Given the description of an element on the screen output the (x, y) to click on. 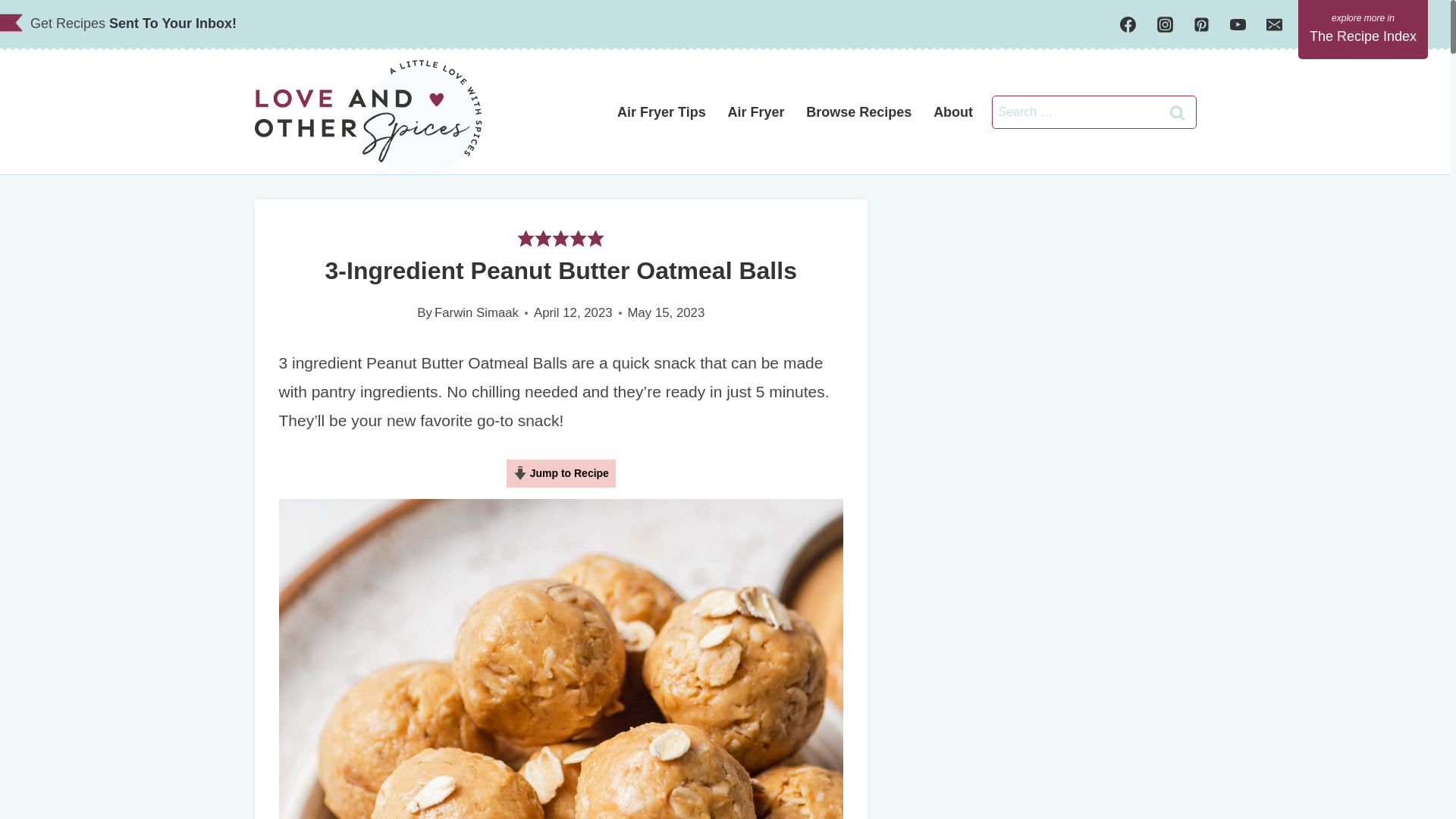
Jump to Recipe (560, 473)
Air Fryer Tips (662, 111)
Farwin Simaak (475, 312)
Air Fryer (755, 111)
Search (1177, 111)
Browse Recipes (858, 111)
About (953, 111)
The Recipe Index (1363, 29)
Search (1177, 111)
Search (1177, 111)
Sent To Your Inbox! (172, 23)
